Given the description of an element on the screen output the (x, y) to click on. 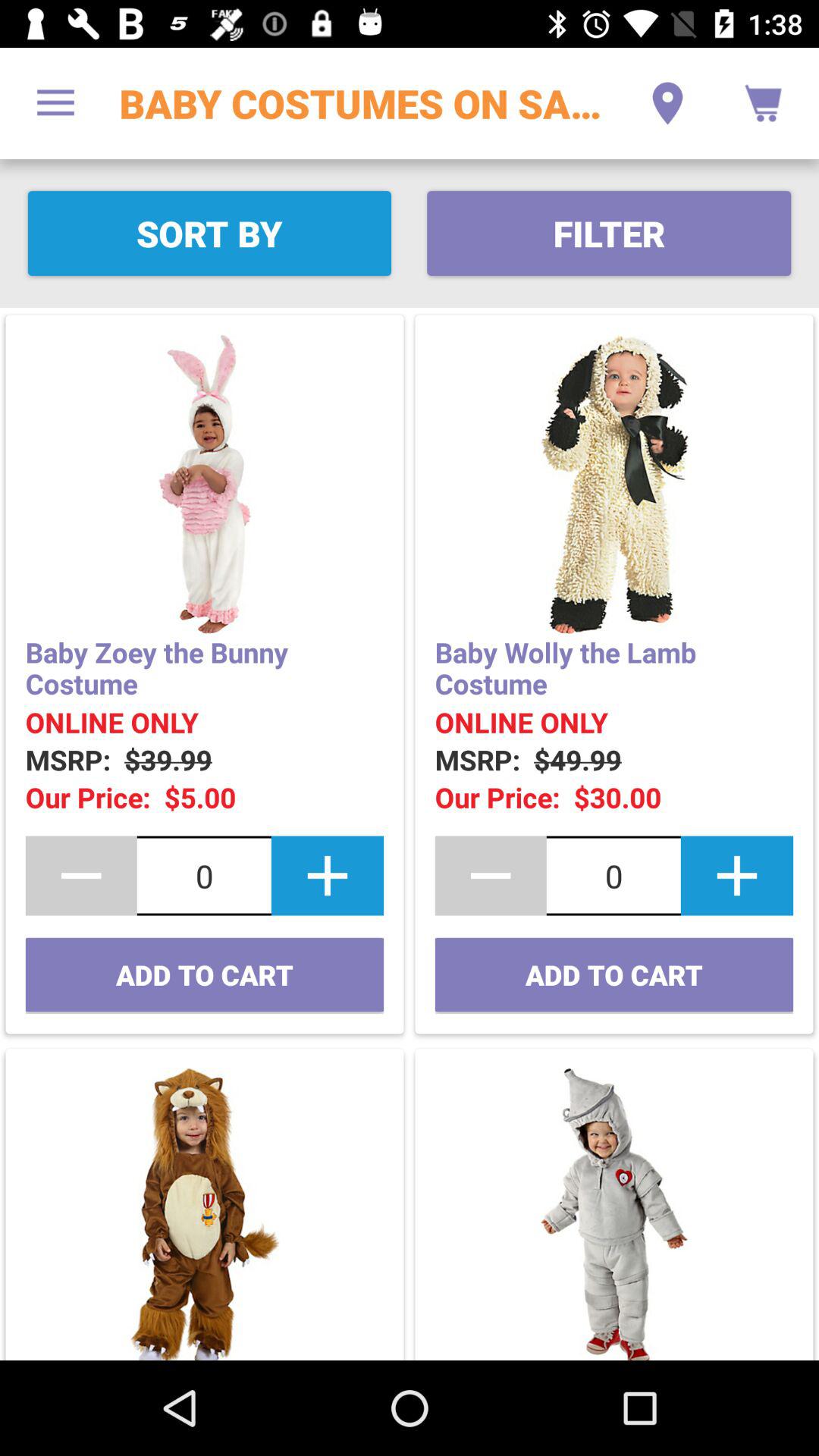
select icon to the left of the baby costumes on icon (55, 103)
